Given the description of an element on the screen output the (x, y) to click on. 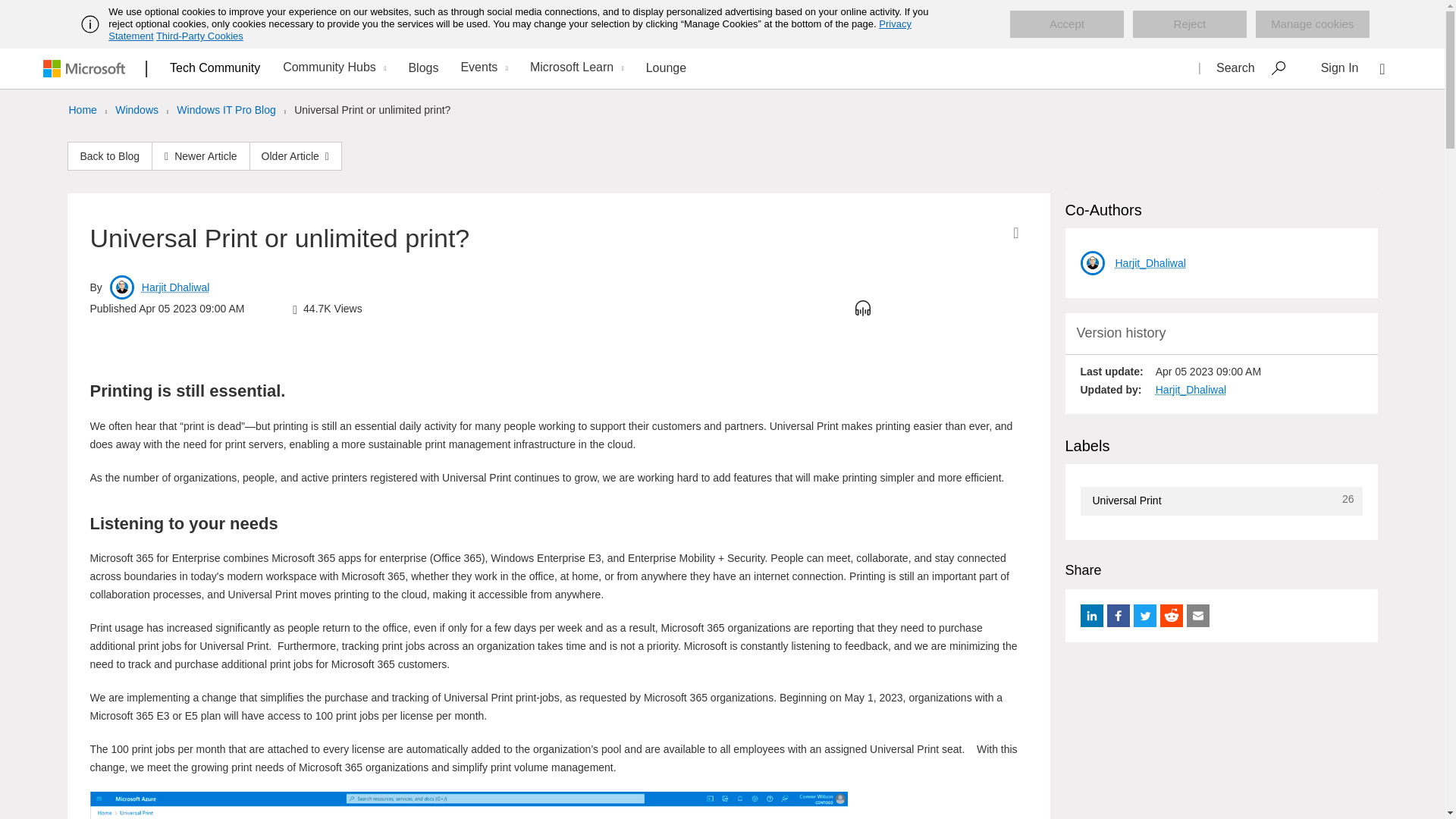
Reject (1189, 23)
Tech Community (215, 67)
Privacy Statement (509, 29)
Accept (1067, 23)
Manage cookies (1312, 23)
Community Hubs (332, 67)
Third-Party Cookies (199, 35)
